Given the description of an element on the screen output the (x, y) to click on. 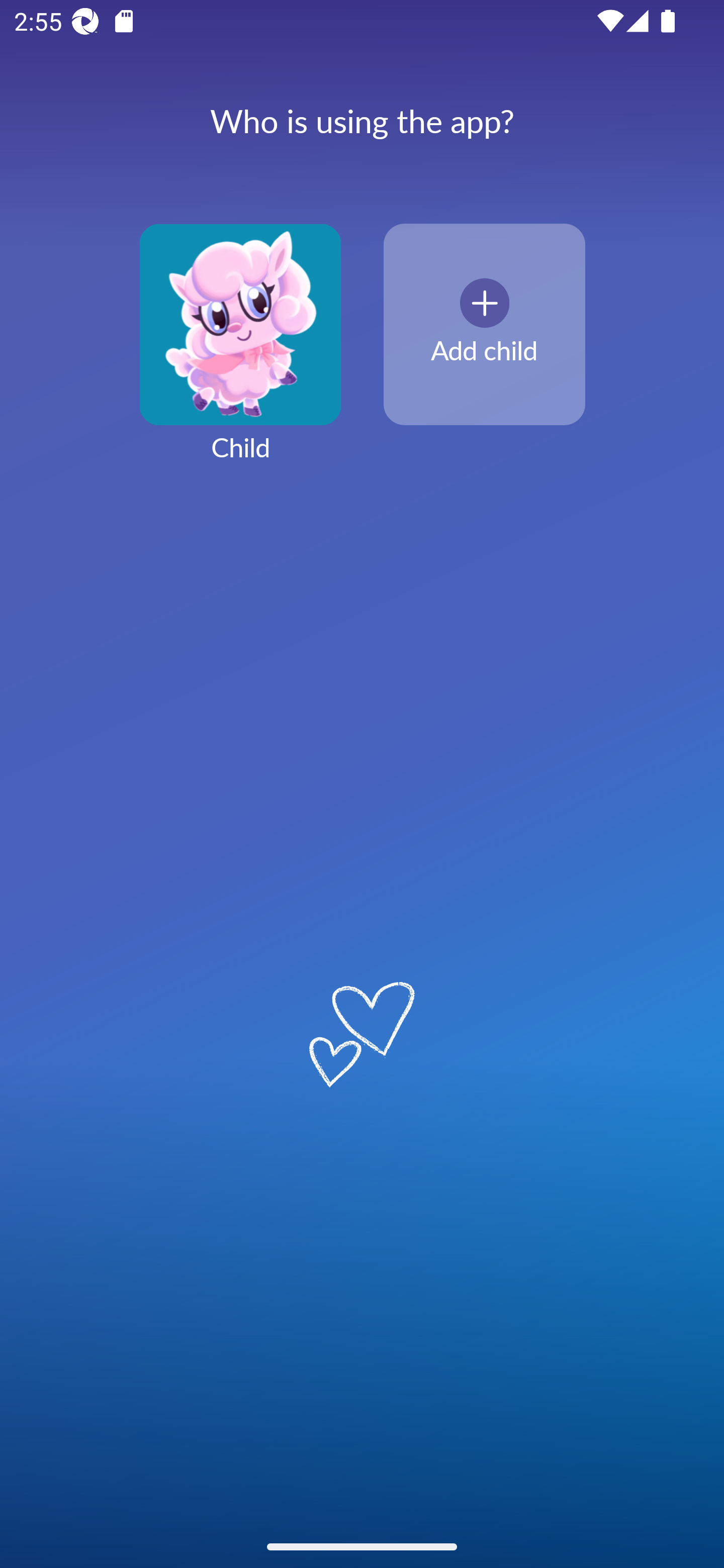
Child (240, 354)
Add child (483, 324)
